Given the description of an element on the screen output the (x, y) to click on. 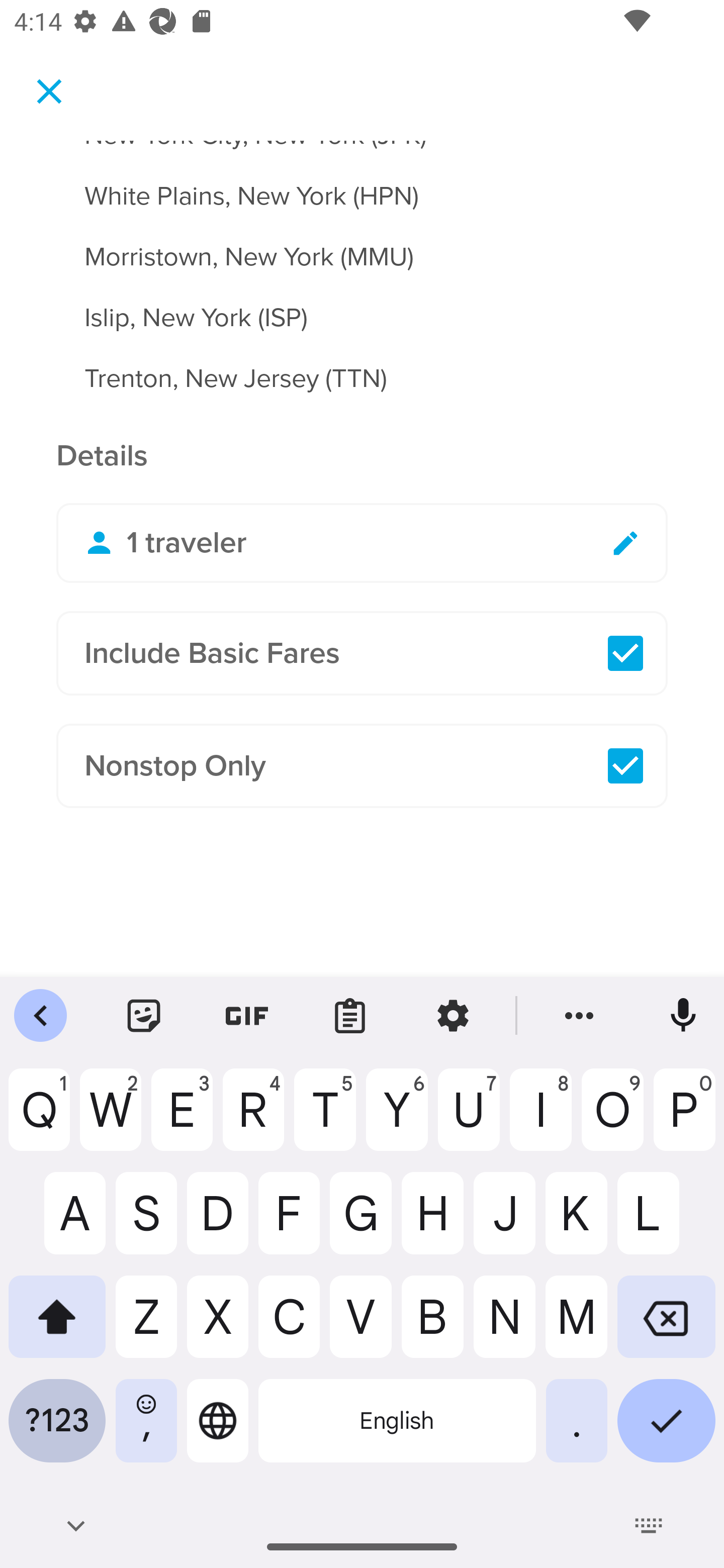
Cancel (49, 90)
White Plains, New York (HPN) (361, 183)
Morristown, New York (MMU) (361, 244)
Islip, New York (ISP) (361, 306)
Trenton, New Jersey (TTN) (361, 379)
1 traveler Edit Travelers (361, 542)
Include Basic Fares (361, 653)
Nonstop Only (361, 765)
